Given the description of an element on the screen output the (x, y) to click on. 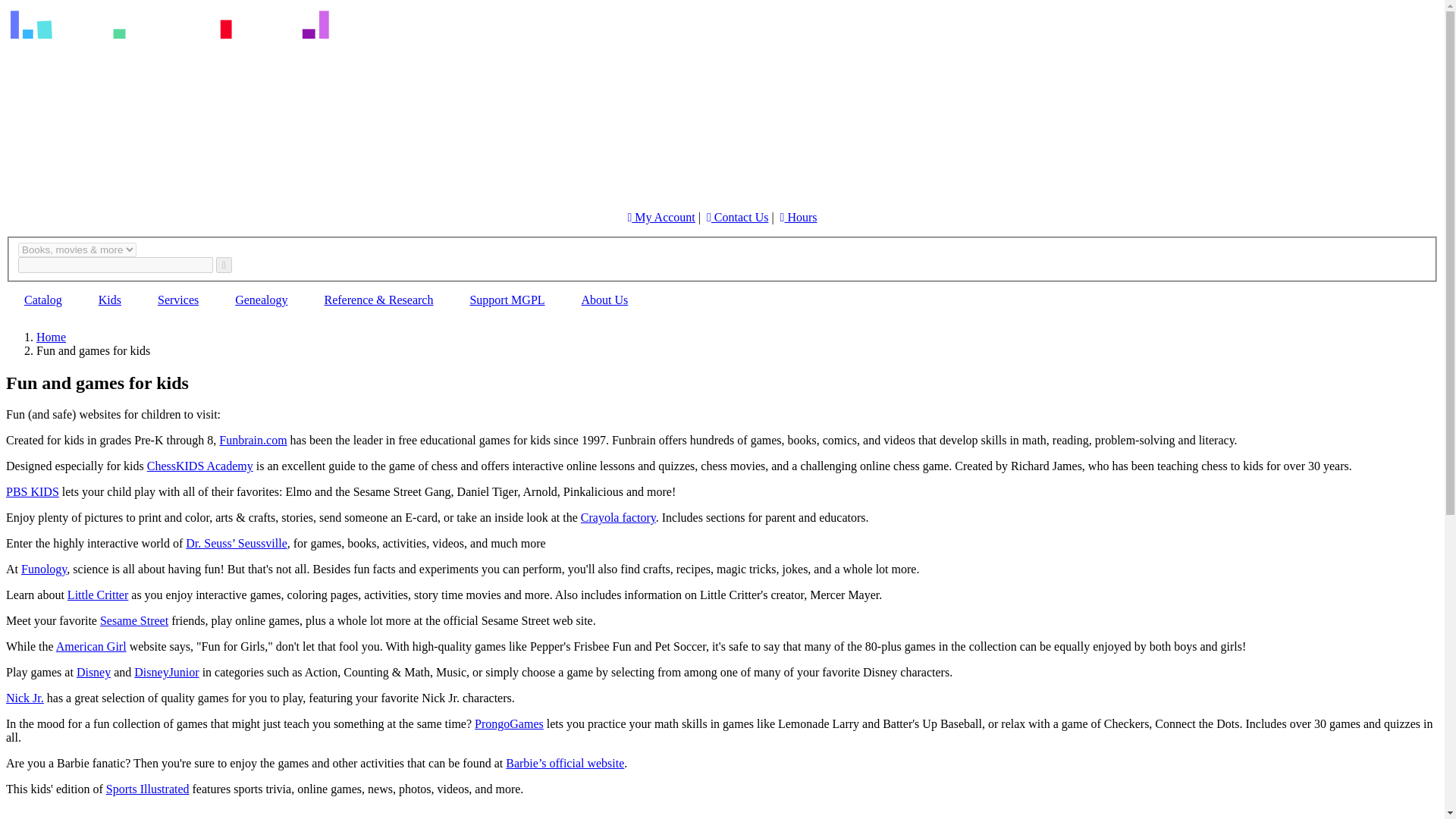
Services (177, 299)
Catalog (42, 299)
Genealogy (260, 299)
Kids (109, 299)
Services at the Mount Gilead Public Library (177, 299)
 My Account (660, 216)
 Hours (798, 216)
Support MGPL (506, 299)
Genealogy (260, 299)
